Given the description of an element on the screen output the (x, y) to click on. 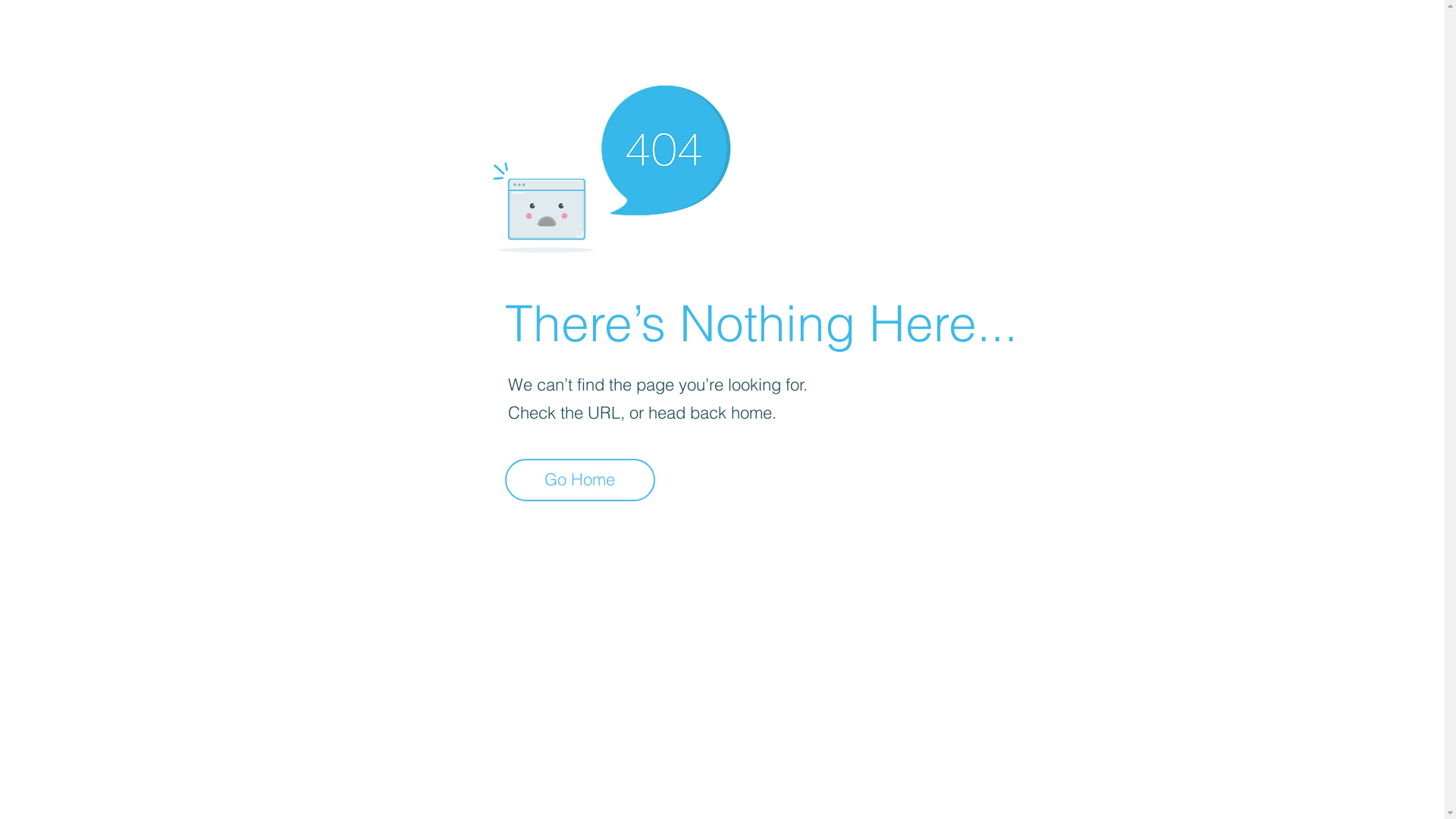
Go Home Element type: text (580, 479)
404-icon_2.png Element type: hover (610, 164)
